Given the description of an element on the screen output the (x, y) to click on. 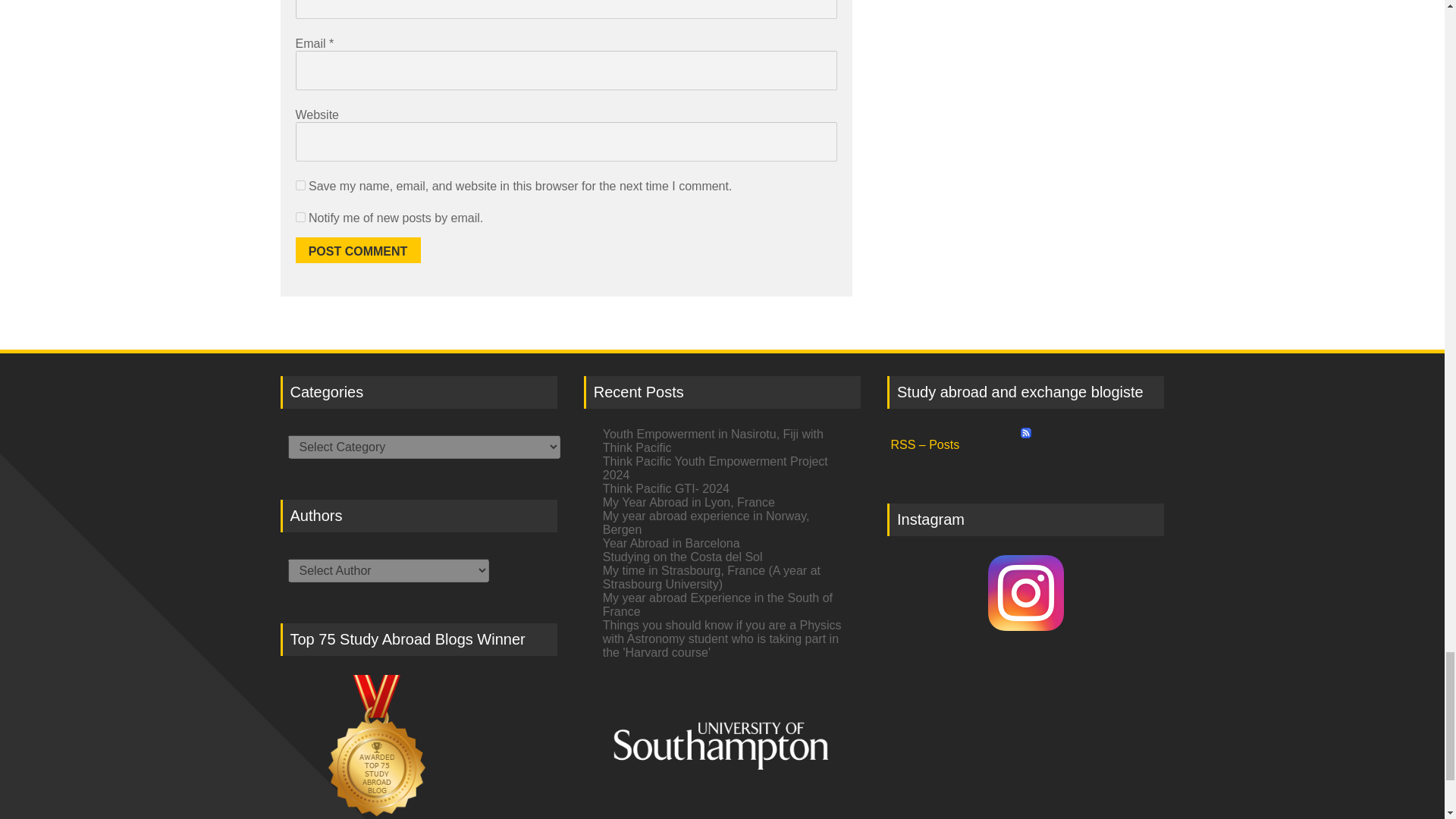
yes (300, 185)
subscribe (300, 216)
Post Comment (357, 249)
Subscribe to posts (1024, 439)
Post Comment (357, 249)
Instagram (1024, 592)
Study Abroad Blogs (418, 746)
